Given the description of an element on the screen output the (x, y) to click on. 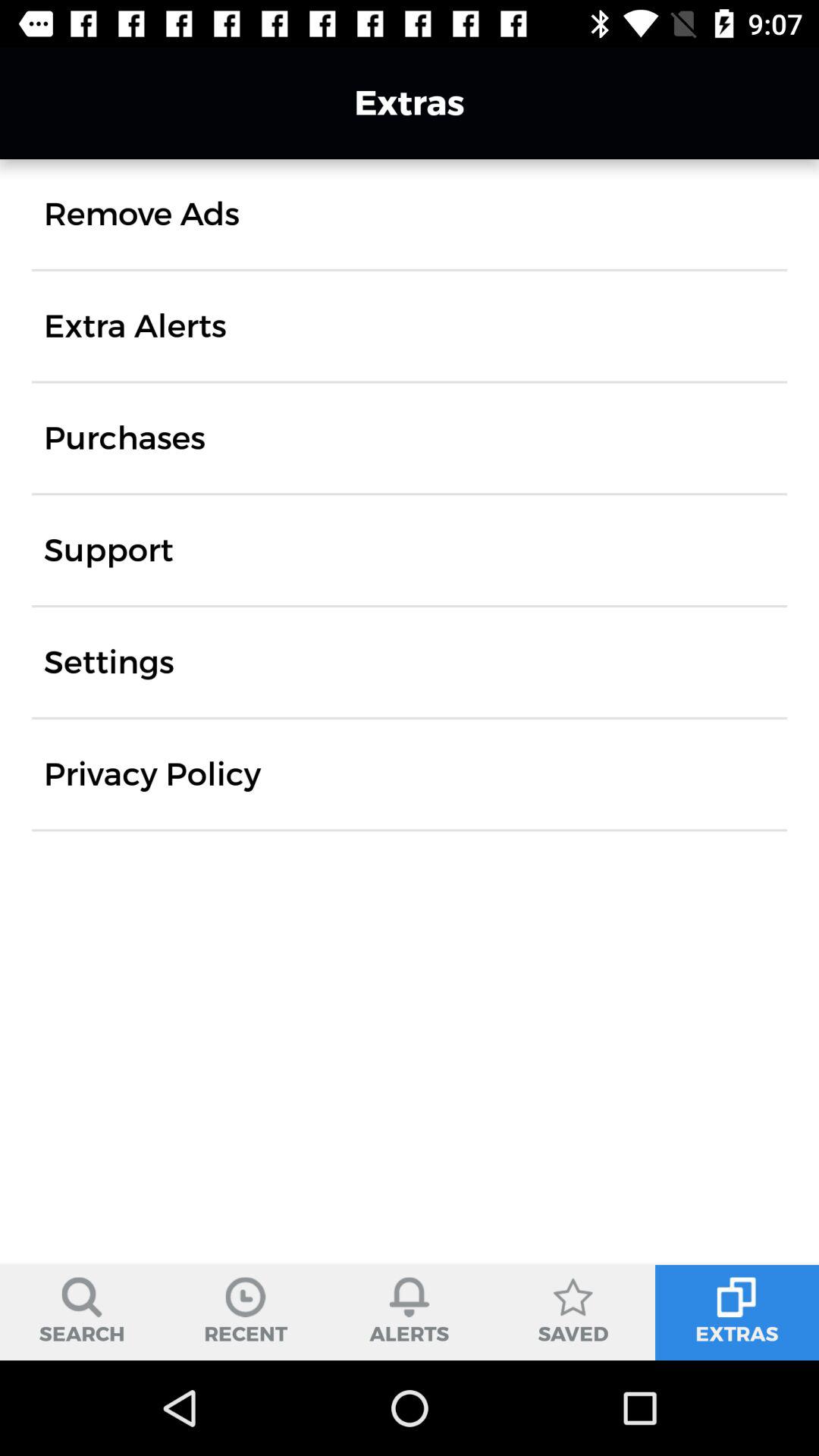
tap extra alerts icon (134, 326)
